Given the description of an element on the screen output the (x, y) to click on. 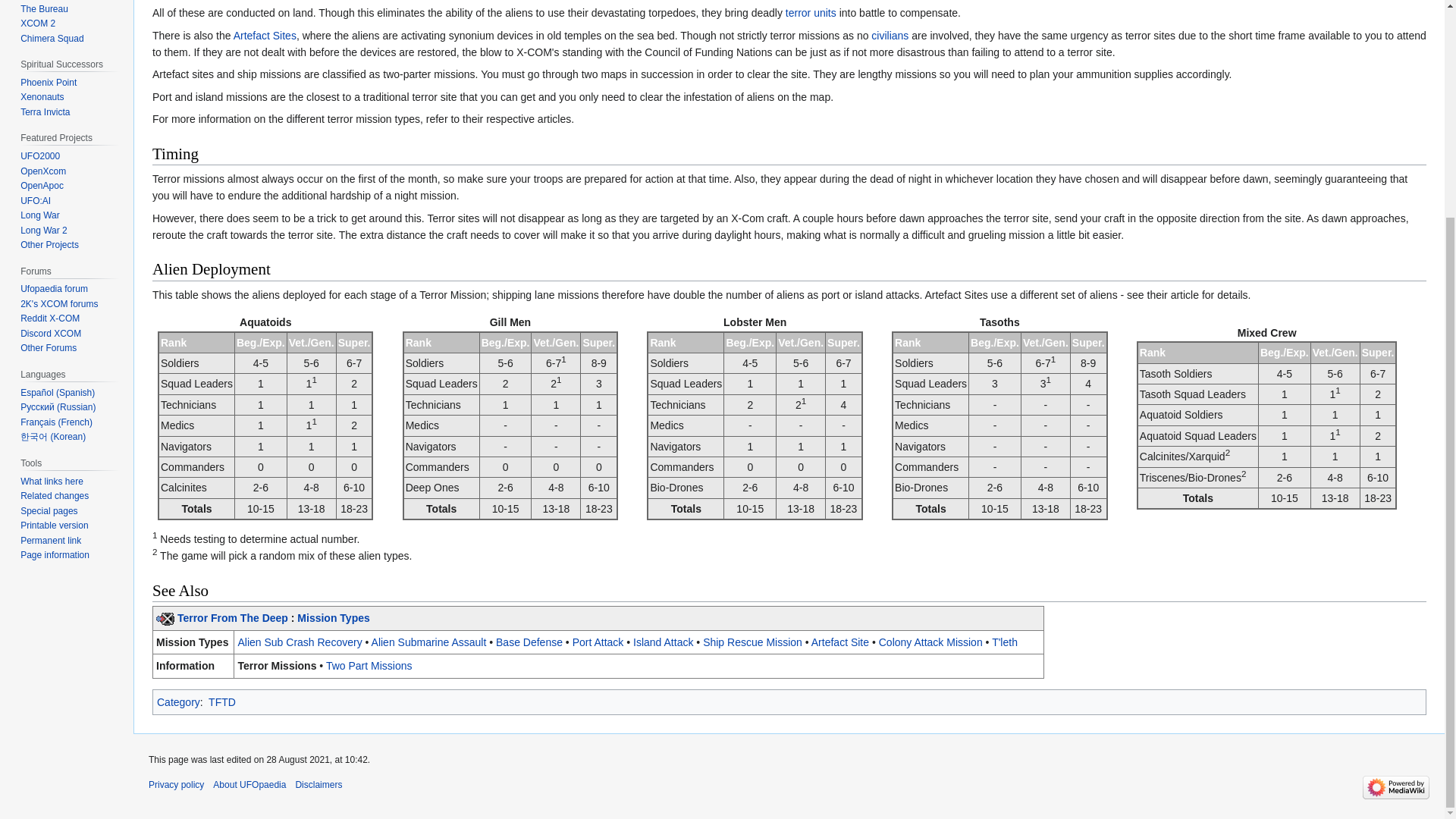
Port Attack (598, 642)
TFTD (221, 702)
Ship Rescue Mission (752, 642)
TFTD Table (232, 617)
Colony Attack Mission (930, 642)
civilians (889, 35)
Terror From The Deep (232, 617)
Port Attack (598, 642)
terror units (810, 12)
T'leth (1004, 642)
